Given the description of an element on the screen output the (x, y) to click on. 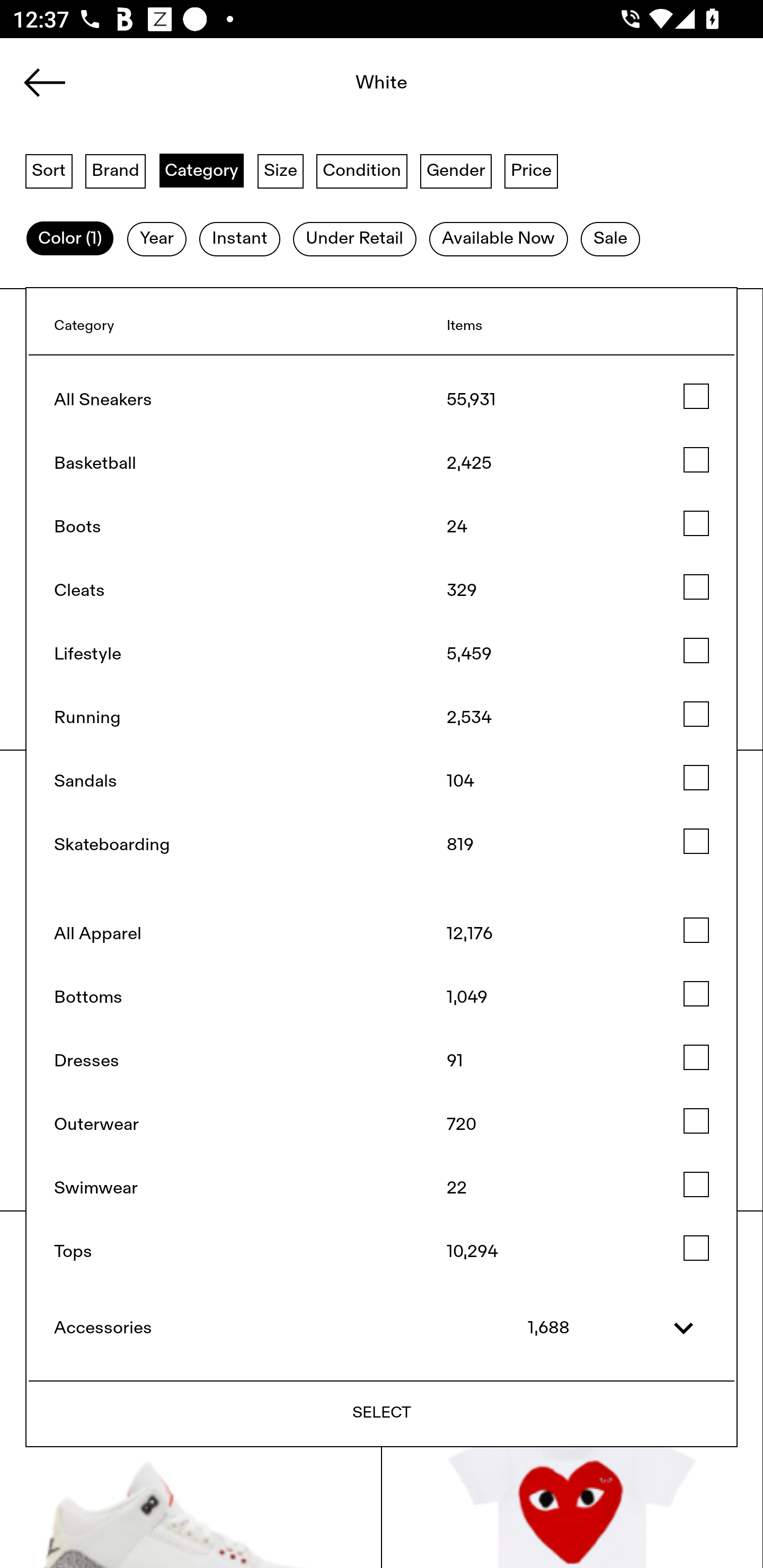
Sort (48, 170)
Brand (115, 170)
Category (201, 170)
Size (280, 170)
Condition (361, 170)
Gender (455, 170)
Price (530, 170)
Color (1) (69, 239)
Year (156, 239)
Instant (239, 239)
Under Retail (354, 239)
Available Now (497, 239)
Sale (610, 239)
Basketball 2,425 (381, 463)
Boots 24 (381, 526)
Cleats 329 (381, 590)
Lifestyle 5,459 (381, 654)
Running 2,534 (381, 717)
Sandals 104 (381, 781)
Skateboarding 819 (381, 844)
Bottoms 1,049 (381, 996)
Dresses 91 (381, 1060)
Outerwear 720 (381, 1124)
Swimwear 22 (381, 1188)
Tops 10,294 (381, 1251)
Accessories 1,688 (381, 1327)
SELECT (381, 1412)
